Given the description of an element on the screen output the (x, y) to click on. 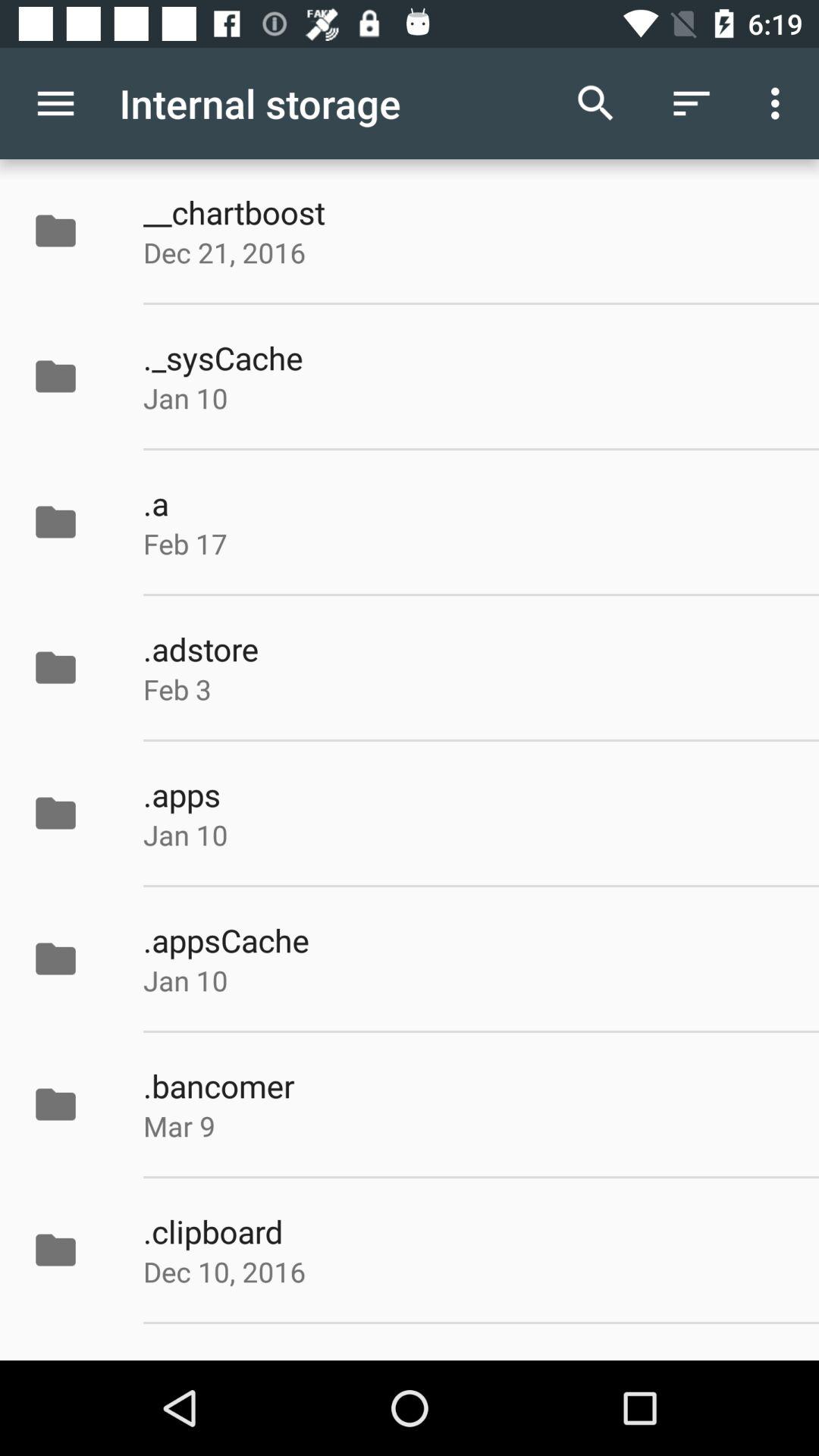
icon left to the text feb 17 (71, 521)
select the option beside search (691, 103)
click the folder icon on the left side of appscache (71, 958)
select the icon which is left to the bottom of the page (55, 1249)
icon beside abstore (71, 667)
